Given the description of an element on the screen output the (x, y) to click on. 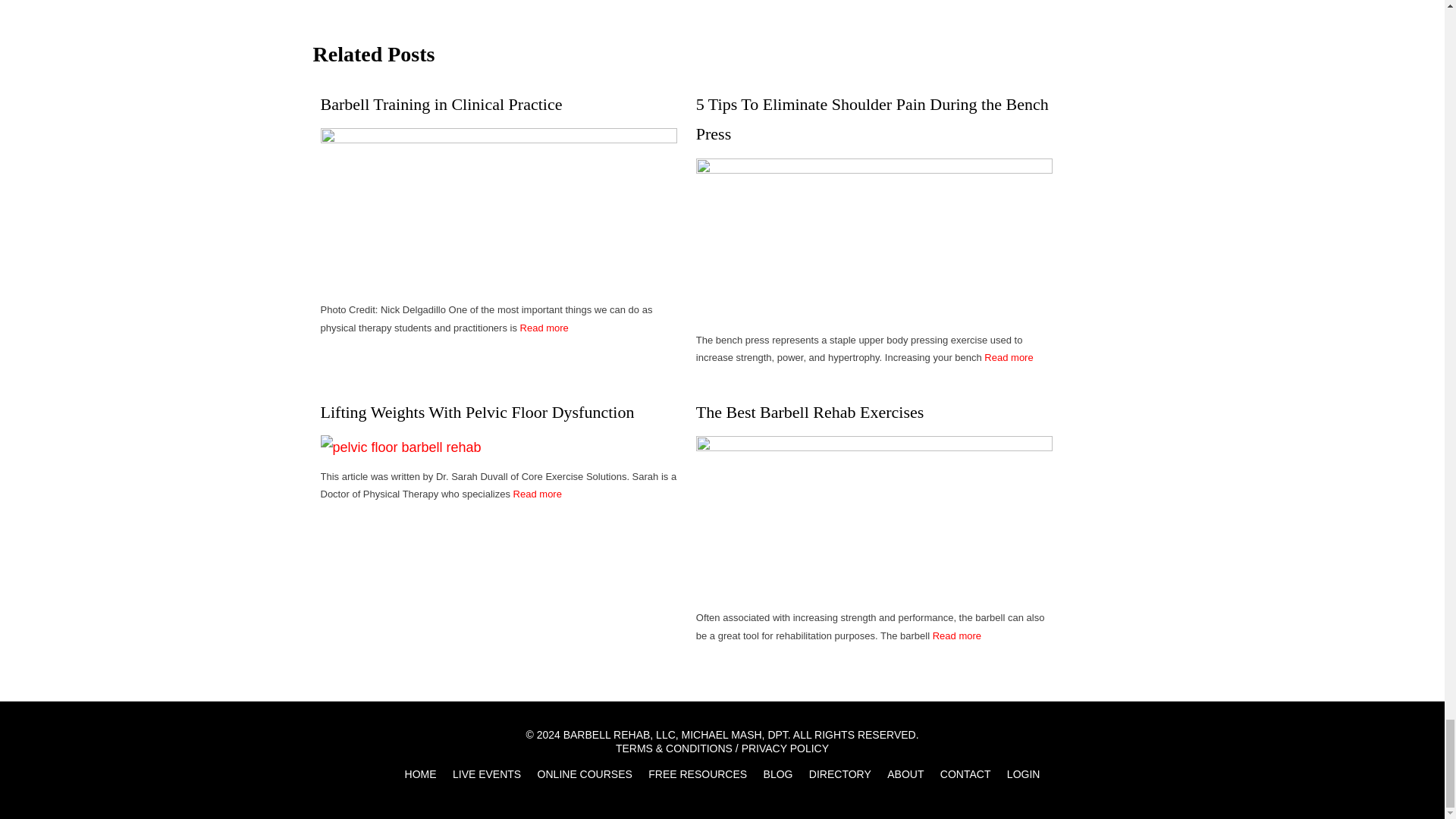
Lifting Weights With Pelvic Floor Dysfunction (498, 412)
Lifting Weights With Pelvic Floor Dysfunction (400, 446)
Barbell Training in Clinical Practice (498, 104)
5 Tips To Eliminate Shoulder Pain During the Bench Press (873, 255)
5 Tips To Eliminate Shoulder Pain During the Bench Press (873, 119)
Barbell Training in Clinical Practice (498, 244)
The Best Barbell Rehab Exercises (873, 412)
The Best Barbell Rehab Exercises (873, 533)
